Given the description of an element on the screen output the (x, y) to click on. 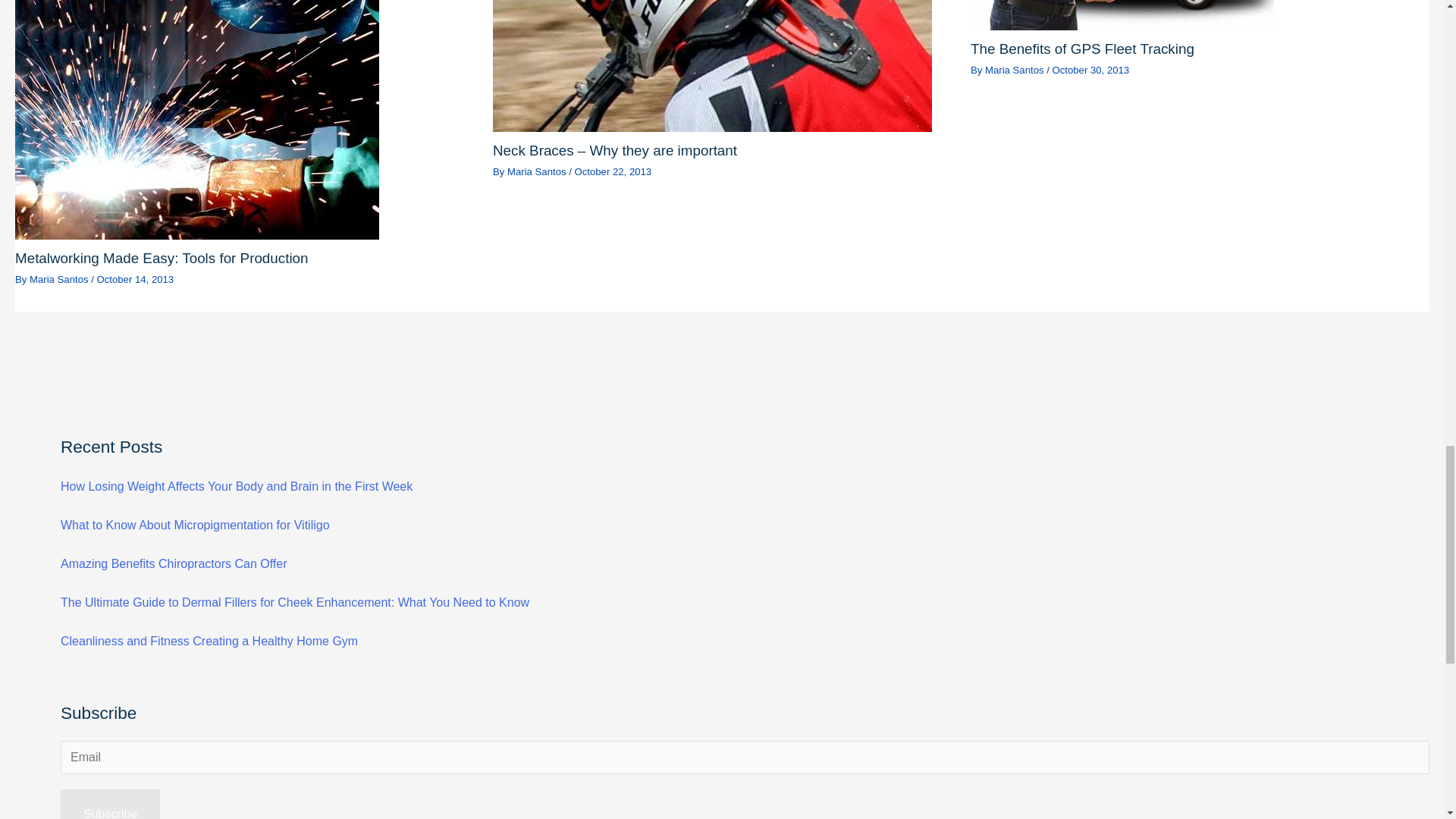
Metalworking Made Easy: Tools for Production (161, 258)
View all posts by Maria Santos (59, 279)
Subscribe (110, 804)
The Benefits of GPS Fleet Tracking (1082, 48)
Amazing Benefits Chiropractors Can Offer (173, 563)
What to Know About Micropigmentation for Vitiligo (195, 524)
Maria Santos (59, 279)
Cleanliness and Fitness Creating a Healthy Home Gym (209, 640)
Maria Santos (1015, 70)
